Given the description of an element on the screen output the (x, y) to click on. 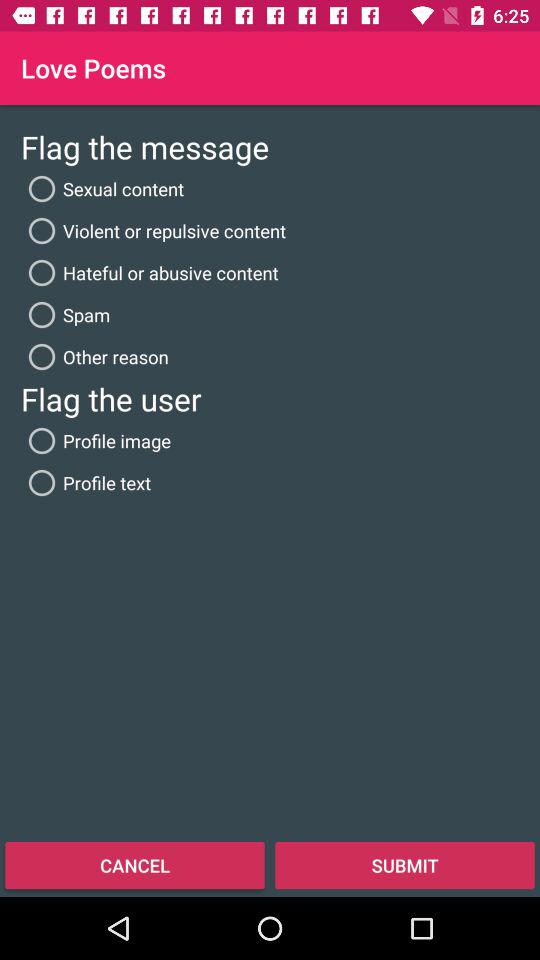
open icon below flag the user item (95, 440)
